Given the description of an element on the screen output the (x, y) to click on. 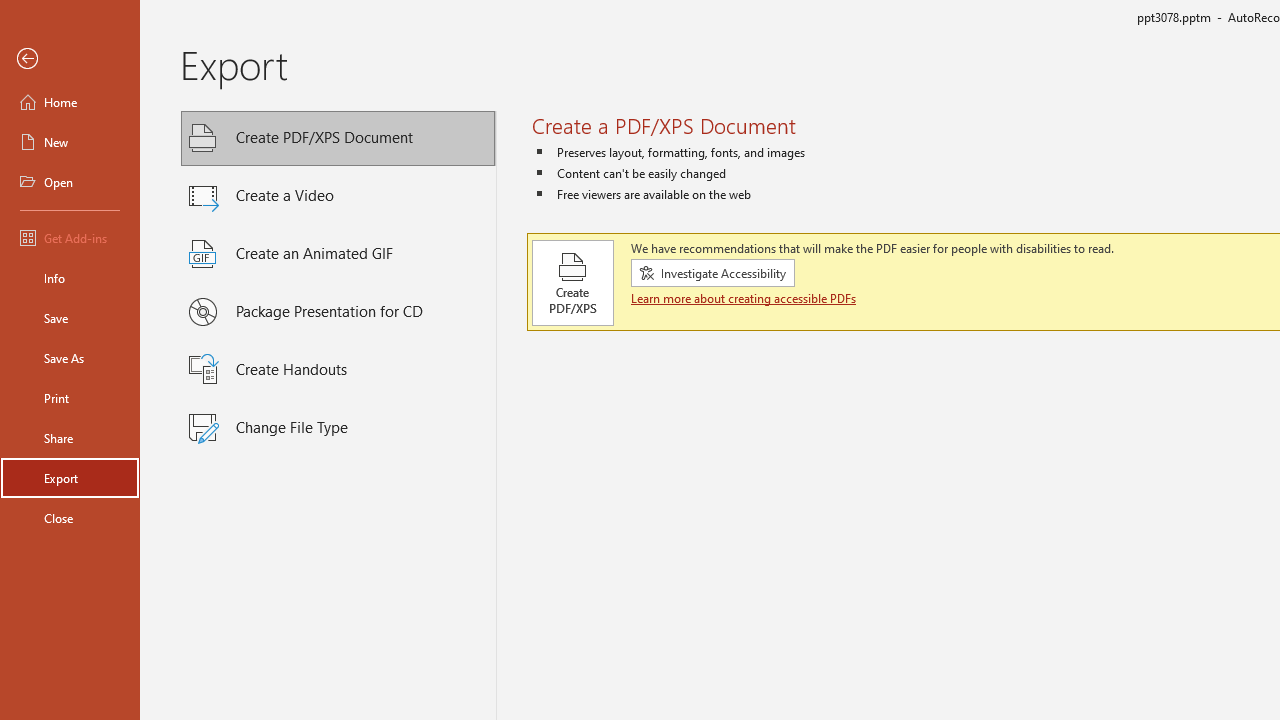
Print (69, 398)
Create a Video (338, 196)
Investigate Accessibility (712, 273)
Save As (69, 357)
Change File Type (338, 428)
Info (69, 277)
Learn more about creating accessible PDFs (745, 298)
New (69, 141)
Export (69, 477)
Create PDF/XPS (573, 282)
